Given the description of an element on the screen output the (x, y) to click on. 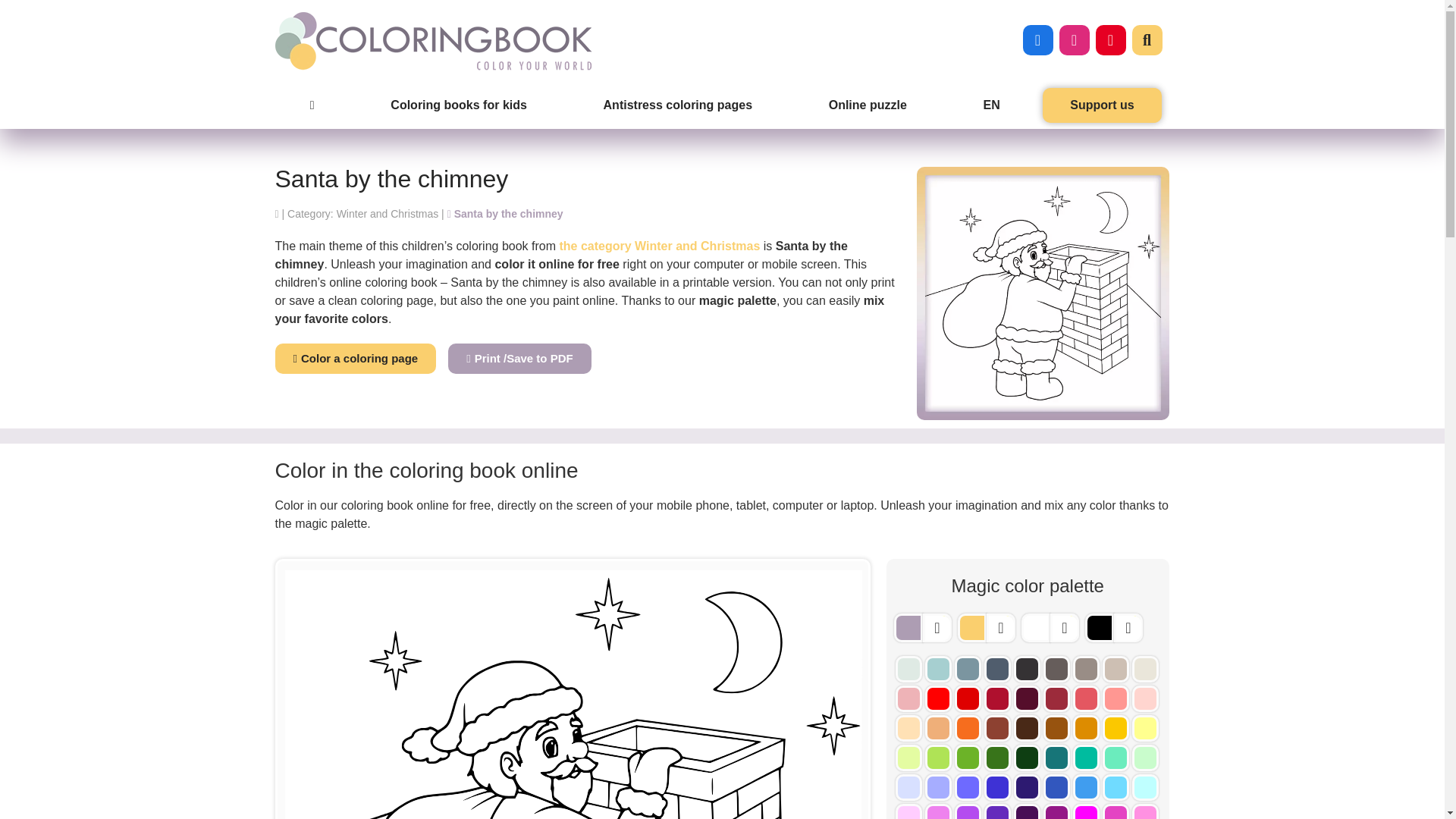
Click on the palette and choose any color (999, 627)
Follow us on Facebook (1037, 39)
Online puzzle (867, 104)
Coloring books from the category Winter and Christmas (659, 245)
Click on the palette and choose any color (935, 627)
Antistress coloring pages (677, 104)
Click on the palette and choose any color (1063, 627)
Color in our coloring book online for free (504, 214)
Winter and Christmas (362, 214)
EN (991, 104)
